Given the description of an element on the screen output the (x, y) to click on. 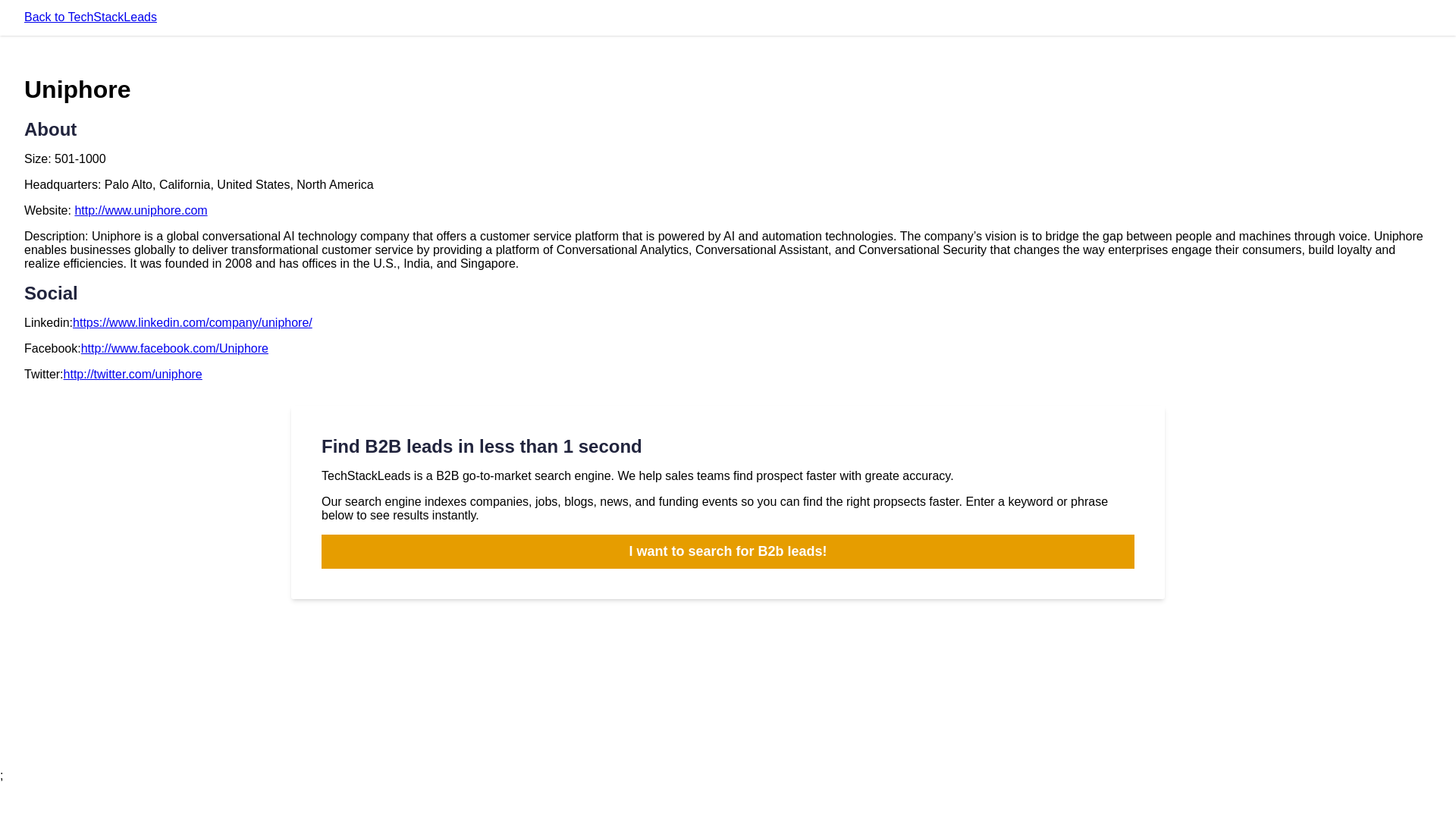
I want to search for B2b leads! (727, 551)
Back to TechStackLeads (90, 16)
I want to search for B2b leads! (727, 551)
